Given the description of an element on the screen output the (x, y) to click on. 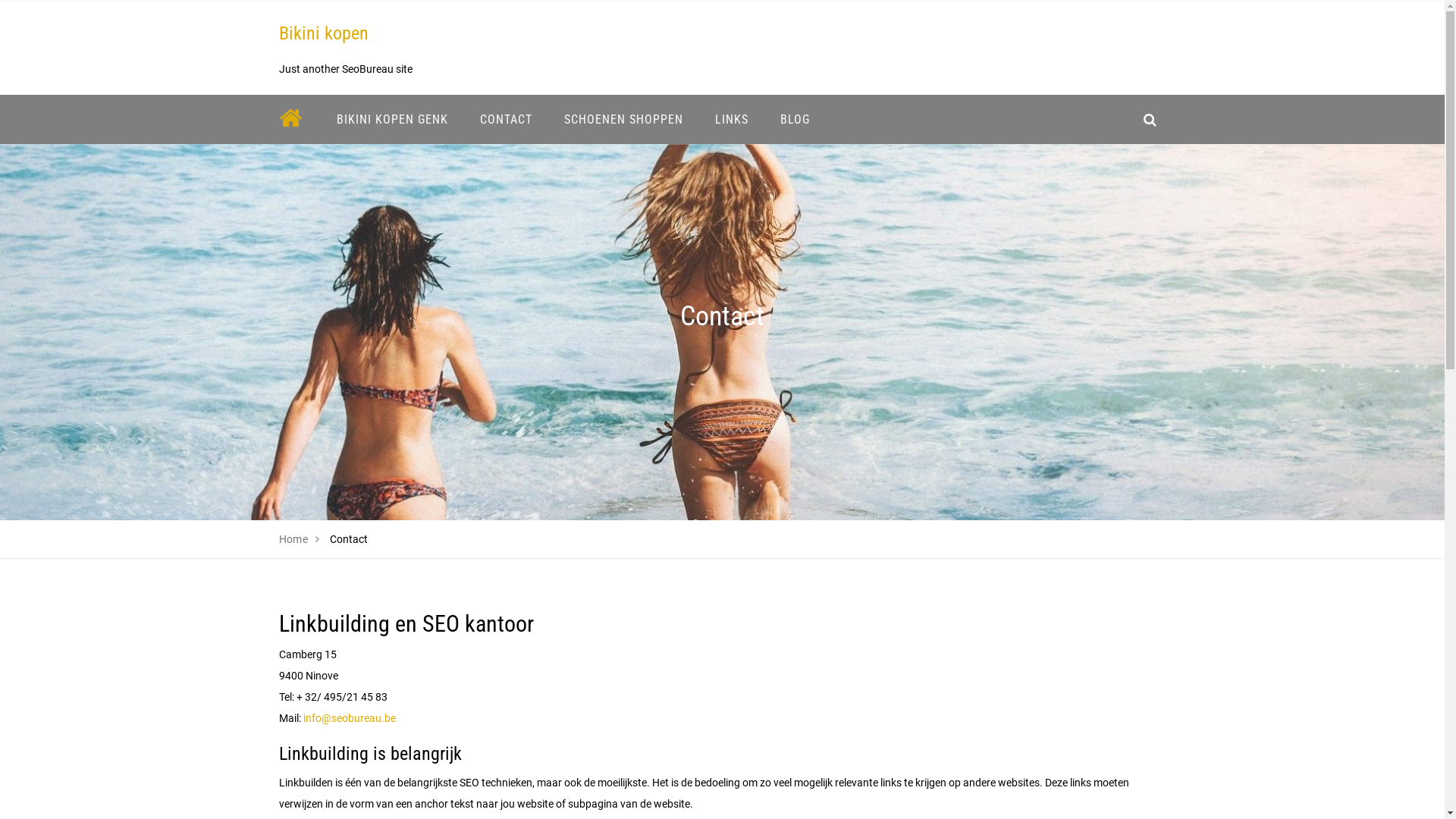
BIKINI KOPEN GENK Element type: text (391, 119)
Home Element type: text (293, 539)
search_icon Element type: hover (1148, 119)
CONTACT Element type: text (506, 119)
info@seobureau.be Element type: text (349, 718)
SCHOENEN SHOPPEN Element type: text (622, 119)
Bikini kopen Element type: text (323, 32)
BLOG Element type: text (794, 119)
LINKS Element type: text (731, 119)
